Given the description of an element on the screen output the (x, y) to click on. 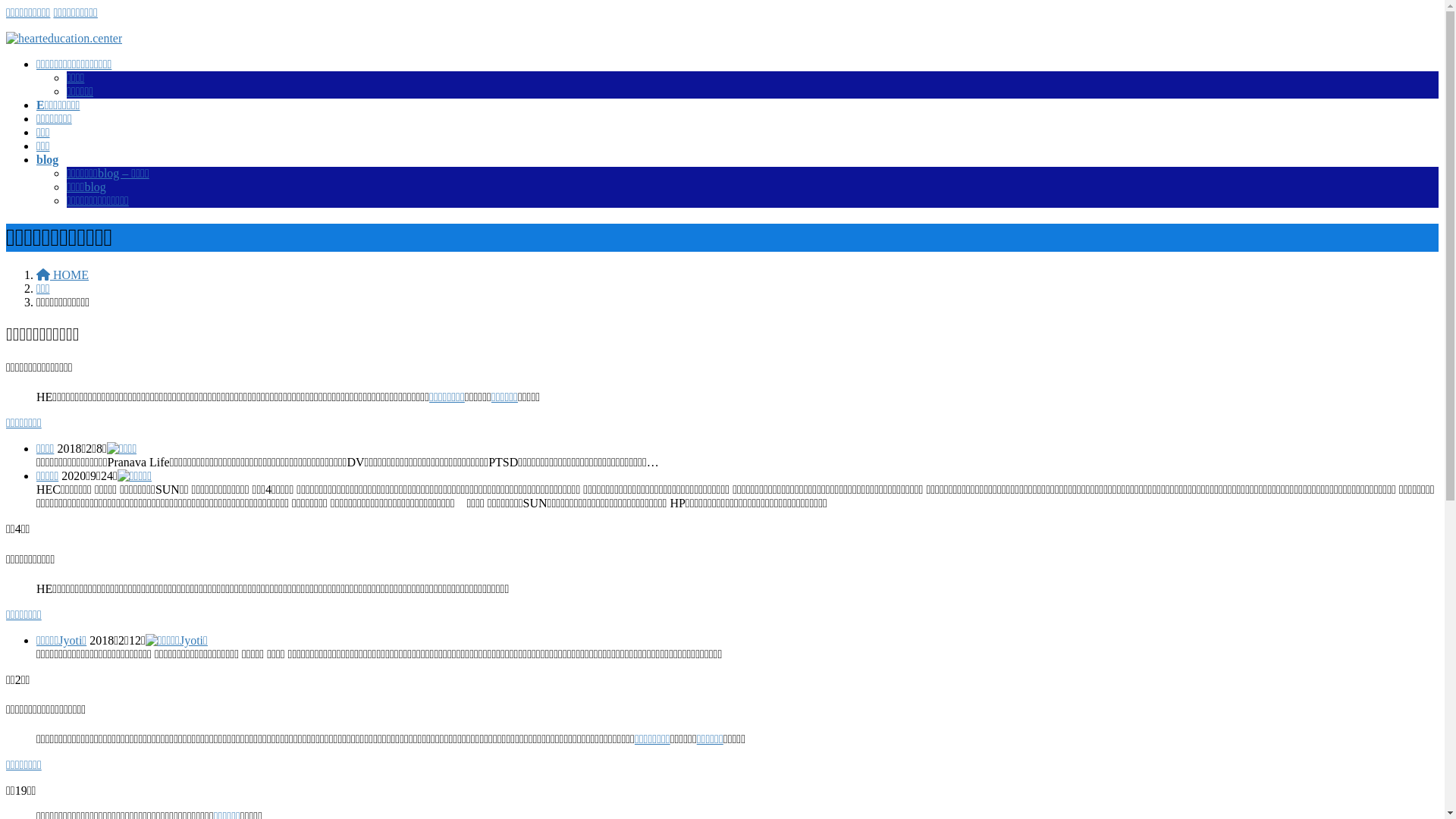
HOME Element type: text (62, 274)
blog Element type: text (47, 159)
